Given the description of an element on the screen output the (x, y) to click on. 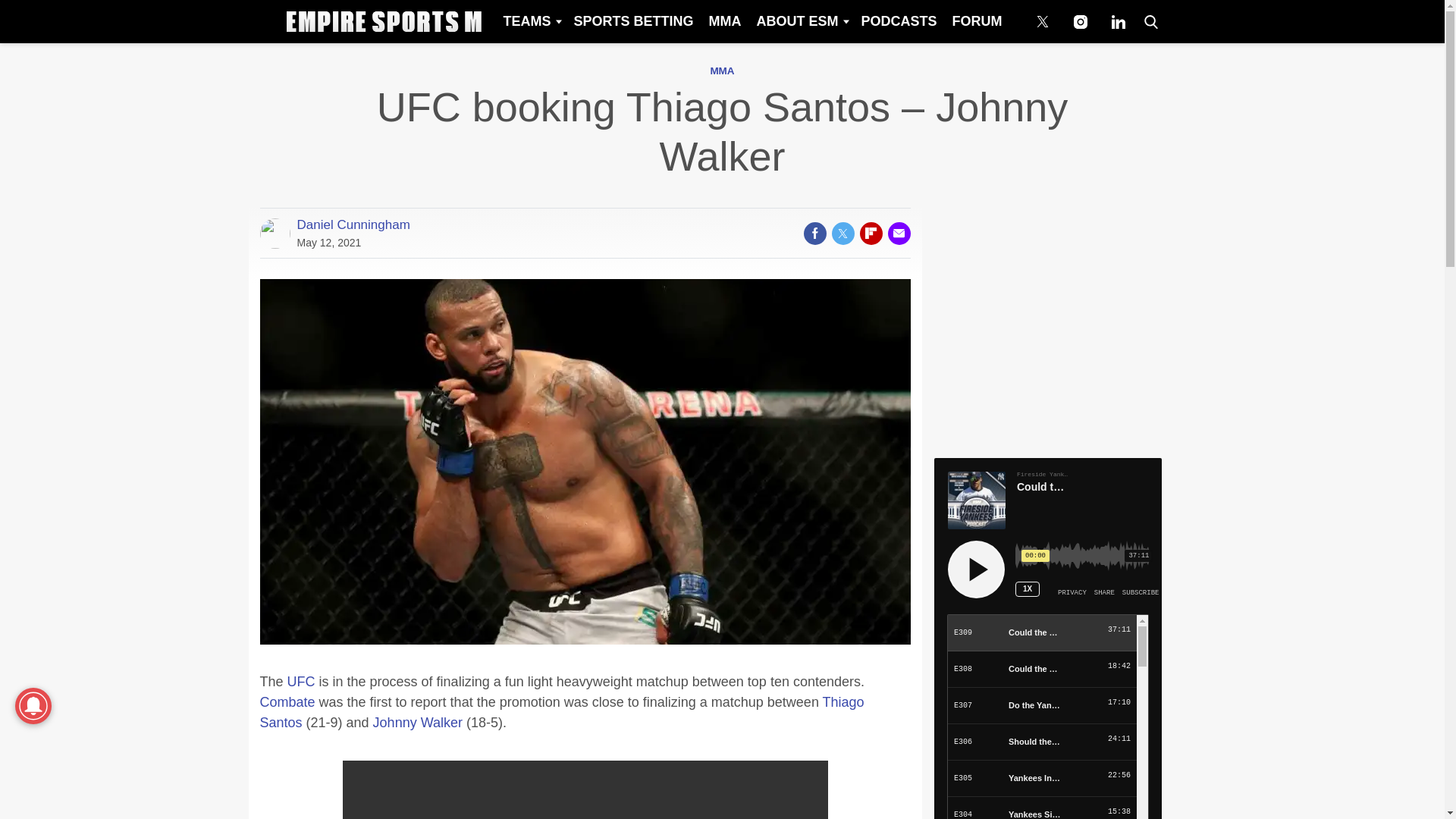
UFC (300, 681)
PODCASTS (898, 21)
Daniel Cunningham (353, 225)
Share on Flipboard (871, 232)
MMA (721, 70)
Posts by Daniel Cunningham (353, 225)
Share on Twitter (842, 232)
Share via Email (898, 232)
TEAMS (530, 21)
FORUM (977, 21)
SPORTS BETTING (633, 21)
Johnny Walker (417, 722)
ABOUT ESM (800, 21)
Combate (286, 702)
Share on Facebook (815, 232)
